Given the description of an element on the screen output the (x, y) to click on. 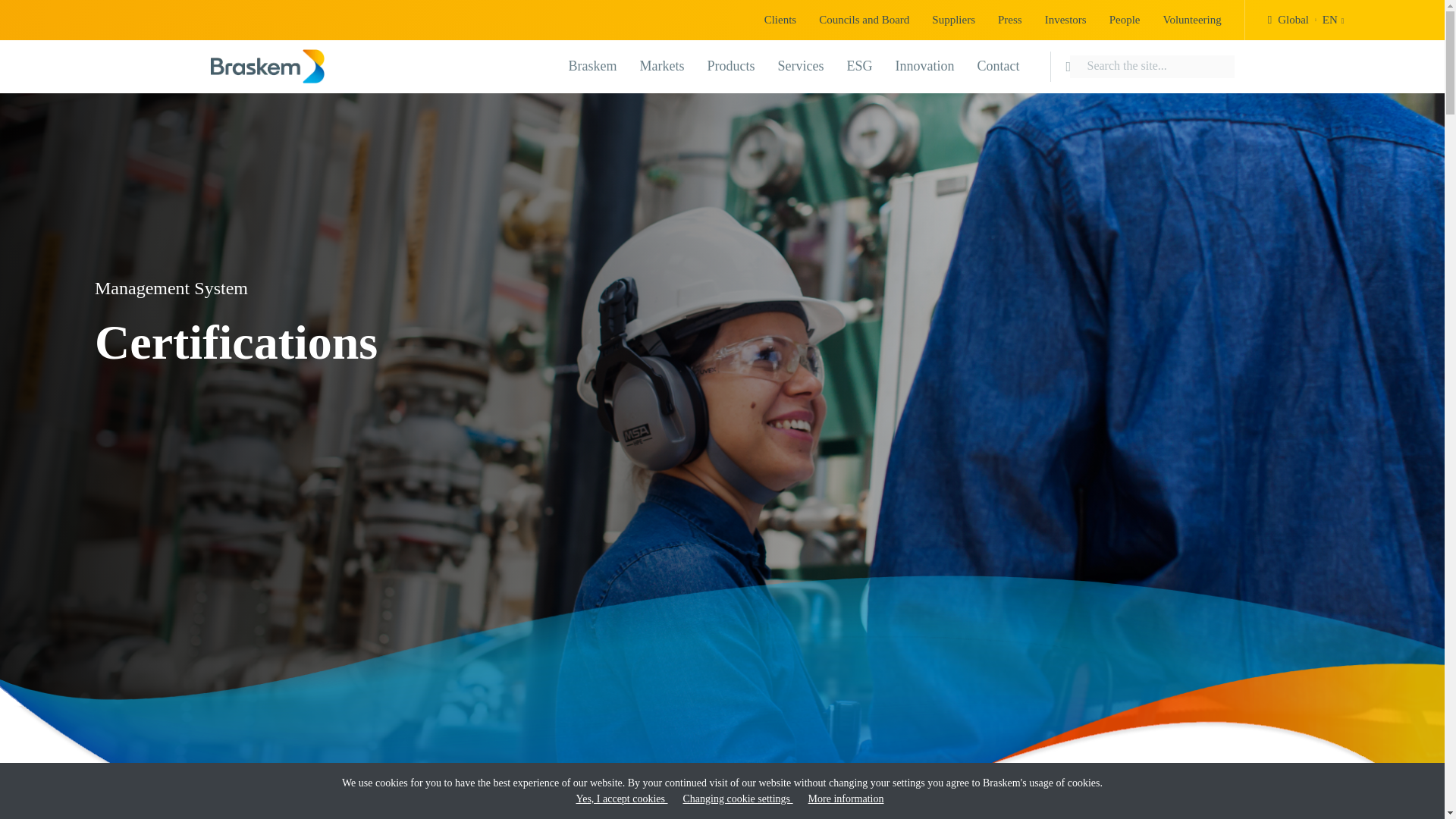
Press (1305, 20)
Volunteering (1010, 20)
Suppliers (1191, 20)
Products (953, 20)
Braskem (731, 65)
Investors (592, 65)
Clients (1065, 20)
People (780, 20)
Markets (1124, 20)
